Given the description of an element on the screen output the (x, y) to click on. 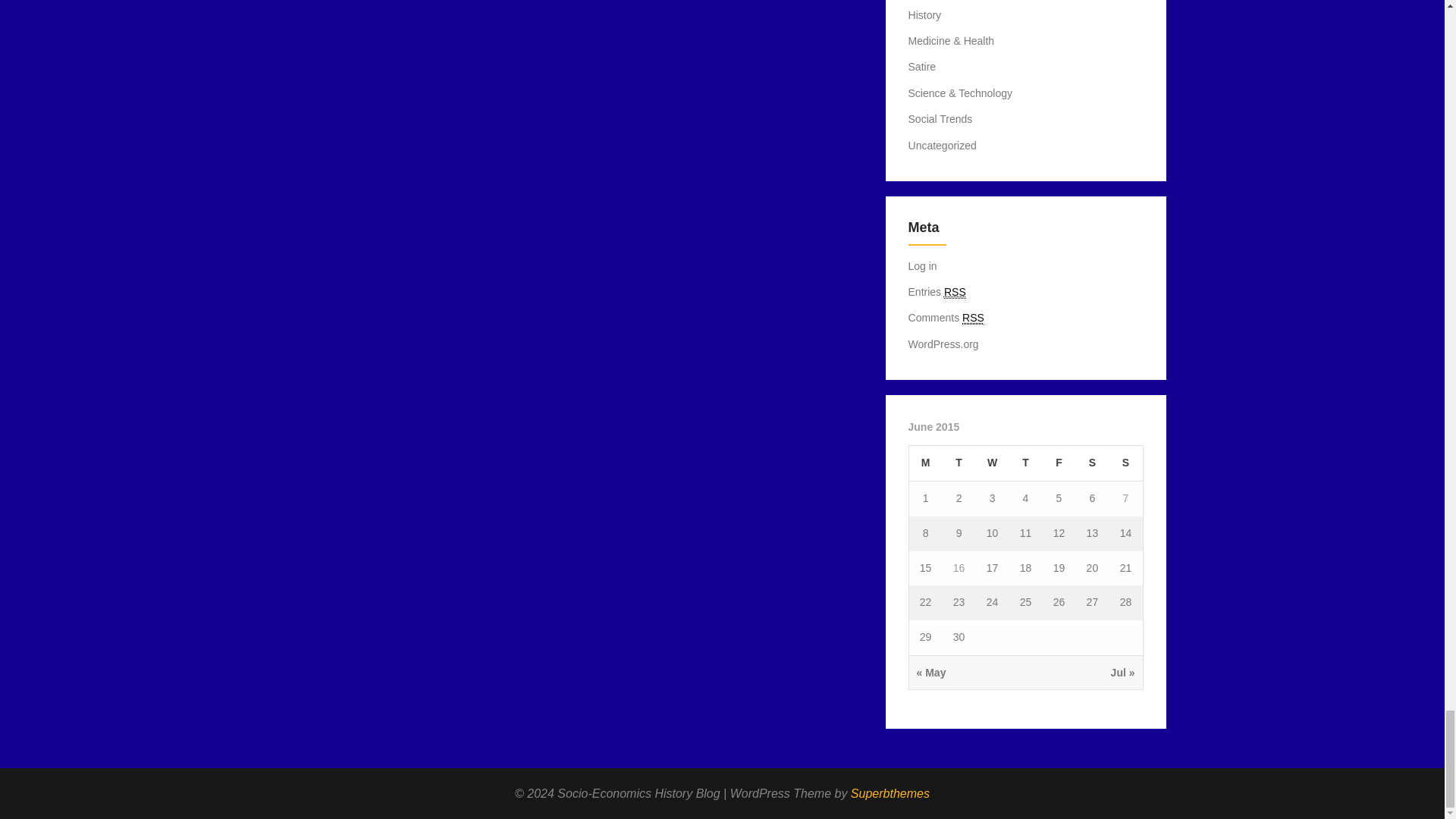
Really Simple Syndication (973, 318)
Sunday (1125, 462)
Friday (1058, 462)
Wednesday (992, 462)
Tuesday (958, 462)
Saturday (1091, 462)
Thursday (1025, 462)
Really Simple Syndication (954, 291)
Monday (925, 462)
